Given the description of an element on the screen output the (x, y) to click on. 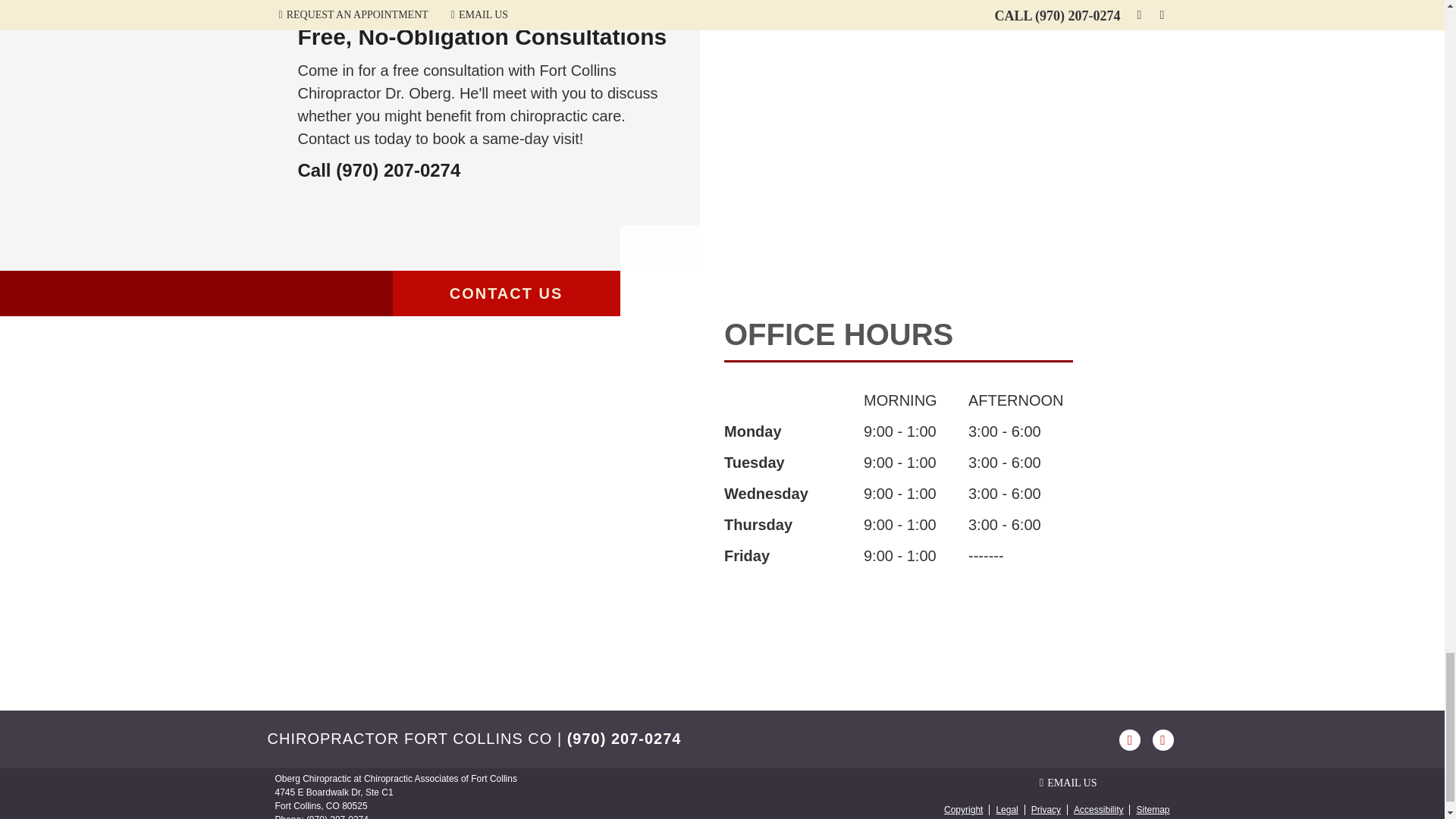
CONTACT US (506, 293)
facebook icon link (1131, 739)
Contact (1068, 782)
google icon link (1162, 739)
